Given the description of an element on the screen output the (x, y) to click on. 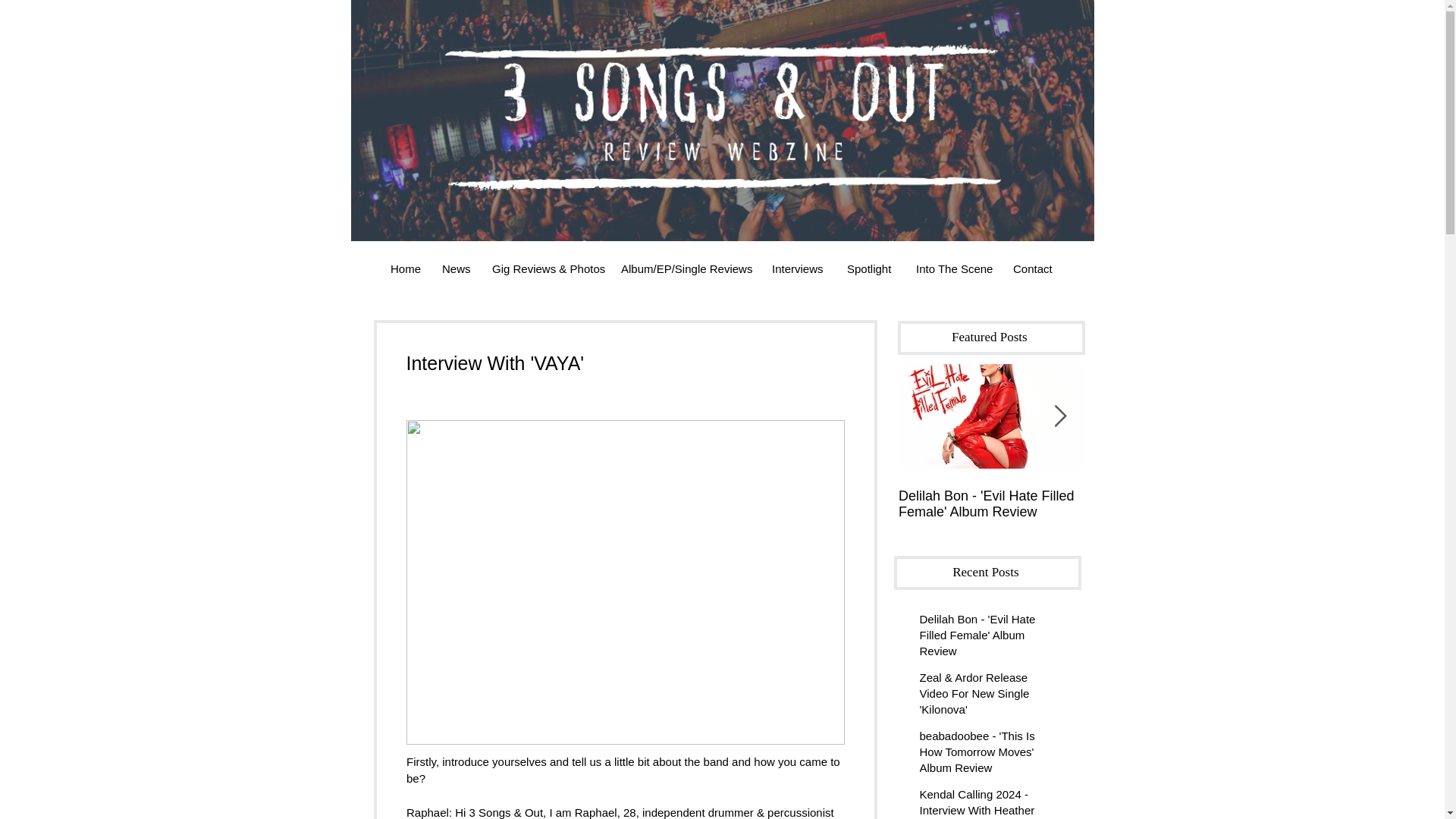
Into The Scene (952, 268)
News (455, 268)
Spotlight (869, 268)
Delilah Bon - 'Evil Hate Filled Female' Album Review (980, 637)
Delilah Bon - 'Evil Hate Filled Female' Album Review (991, 504)
Kendal Calling 2024 - Interview With Heather Small (980, 802)
Home (404, 268)
beabadoobee - 'This Is How Tomorrow Moves' Album Review (980, 755)
Contact (1032, 268)
Interviews (797, 268)
